Given the description of an element on the screen output the (x, y) to click on. 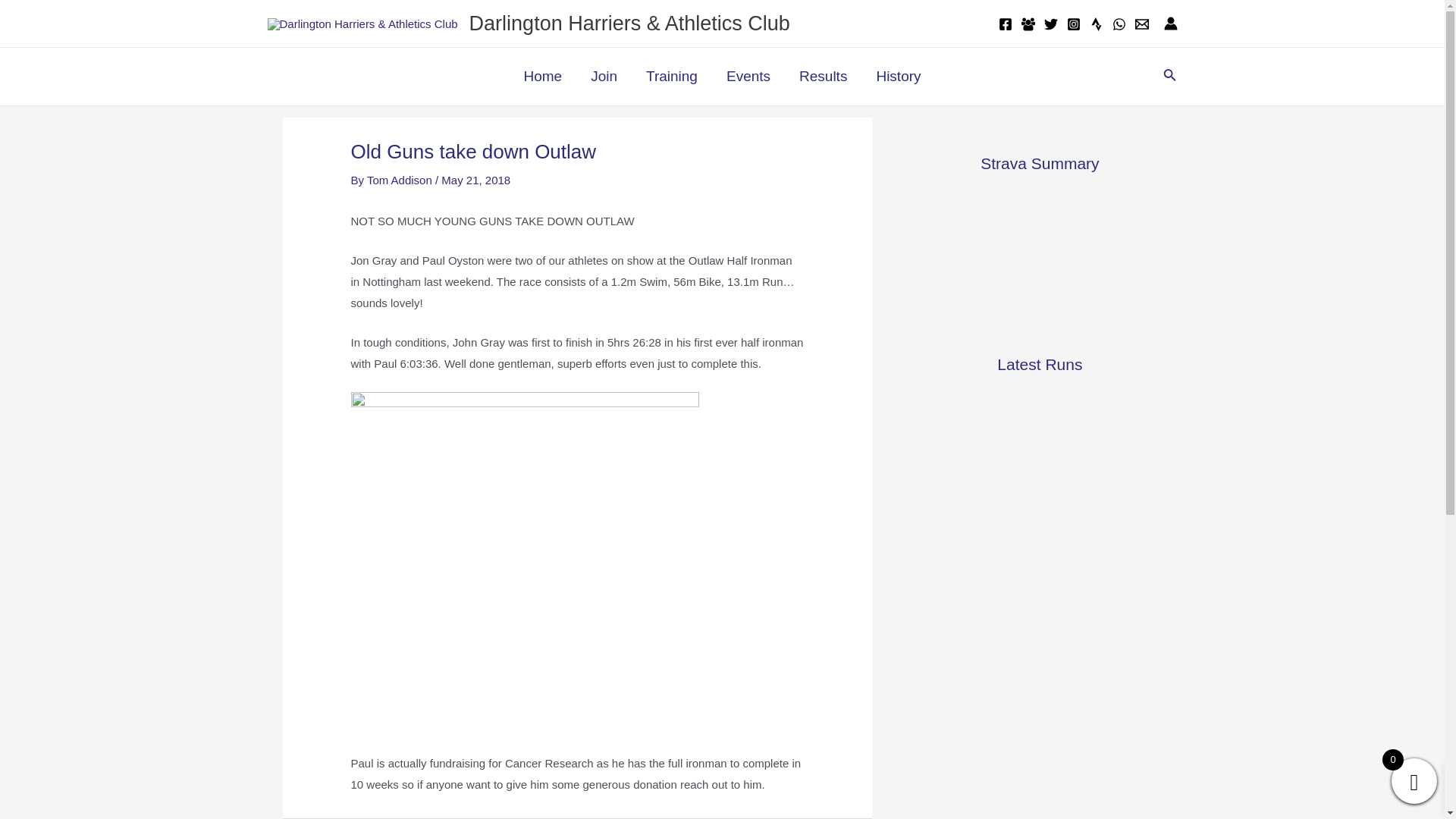
History (897, 76)
Home (542, 76)
Tom Addison (400, 179)
Join (603, 76)
Events (747, 76)
Training (671, 76)
Search (1169, 76)
View all posts by Tom Addison (400, 179)
Results (822, 76)
